Given the description of an element on the screen output the (x, y) to click on. 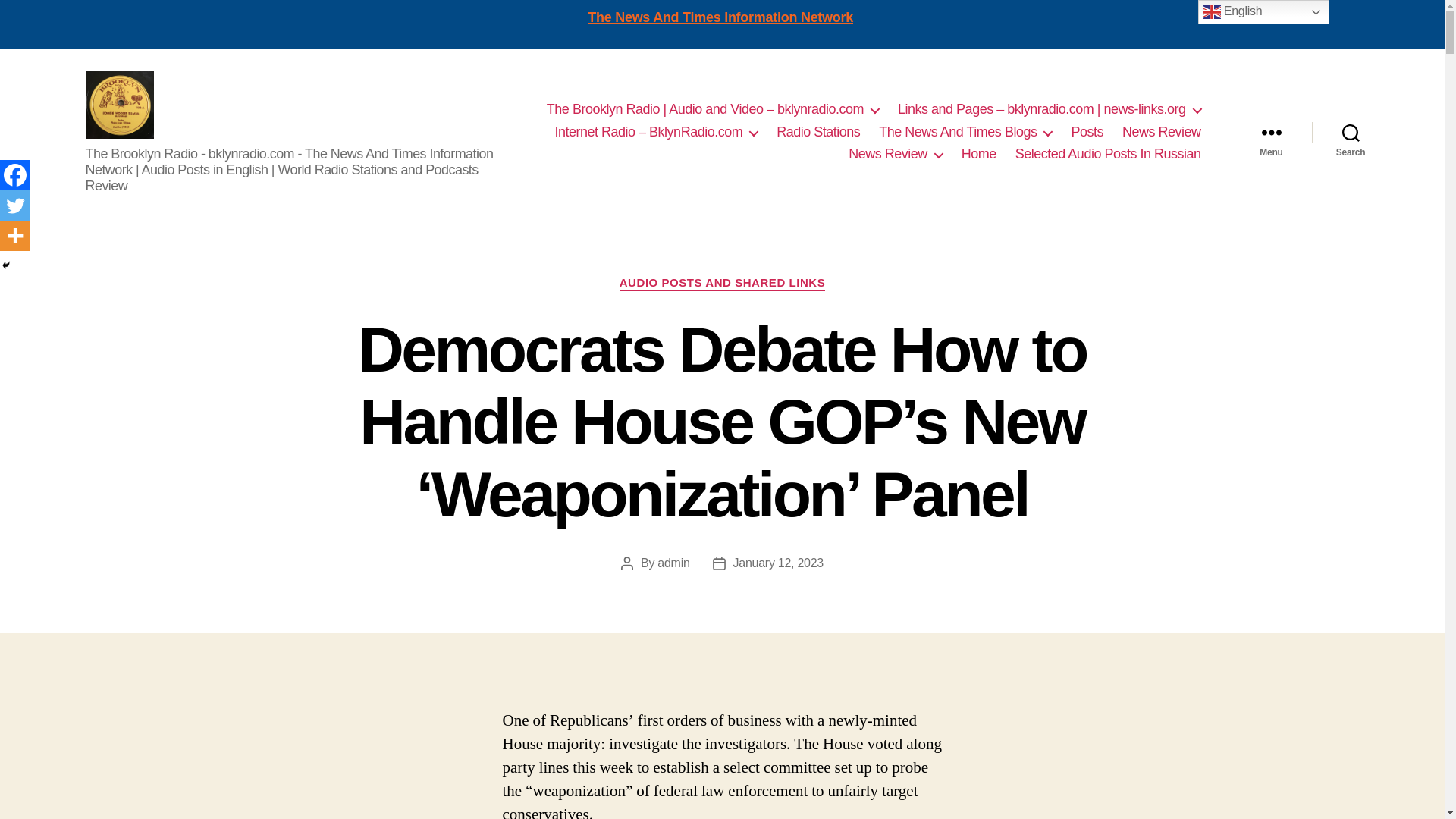
Search (1350, 131)
Twitter (15, 205)
Home (977, 154)
Selected Audio Posts In Russian (1107, 154)
The News And Times Information Network (720, 17)
Hide (5, 265)
Facebook (15, 174)
Posts (1086, 132)
News Review (895, 154)
Radio Stations (818, 132)
More (15, 235)
Menu (1271, 131)
News Review (1161, 132)
The News And Times Blogs (965, 132)
